Given the description of an element on the screen output the (x, y) to click on. 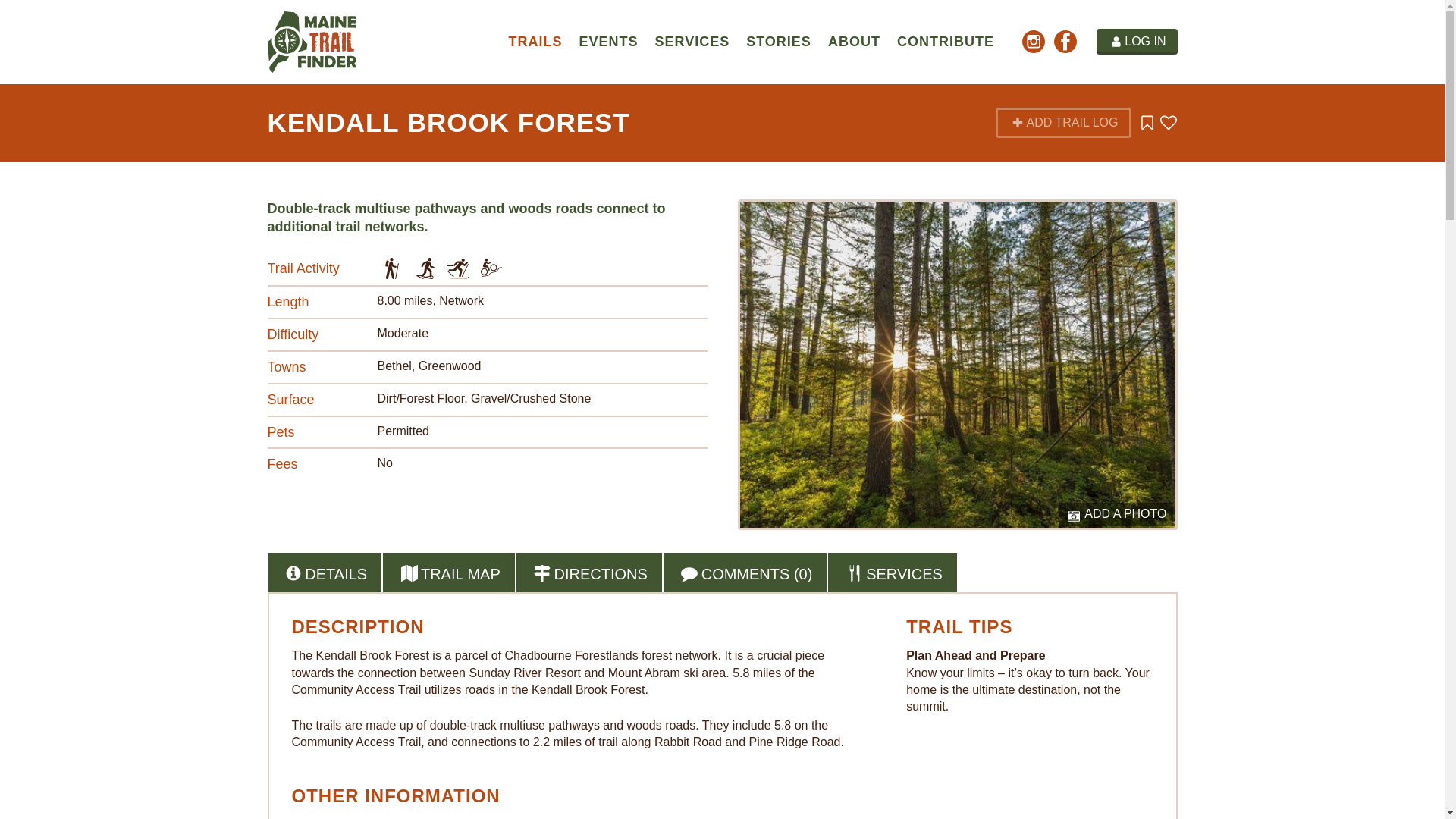
Cross-country-skiing (457, 268)
LOG IN (1136, 41)
Follow us on Instagram (1033, 43)
STORIES (778, 41)
Snowshoeing (424, 268)
ADD TRAIL LOG (1063, 122)
Hiking (392, 268)
Mountain-biking (491, 268)
ABOUT (853, 41)
EVENTS (608, 41)
